Given the description of an element on the screen output the (x, y) to click on. 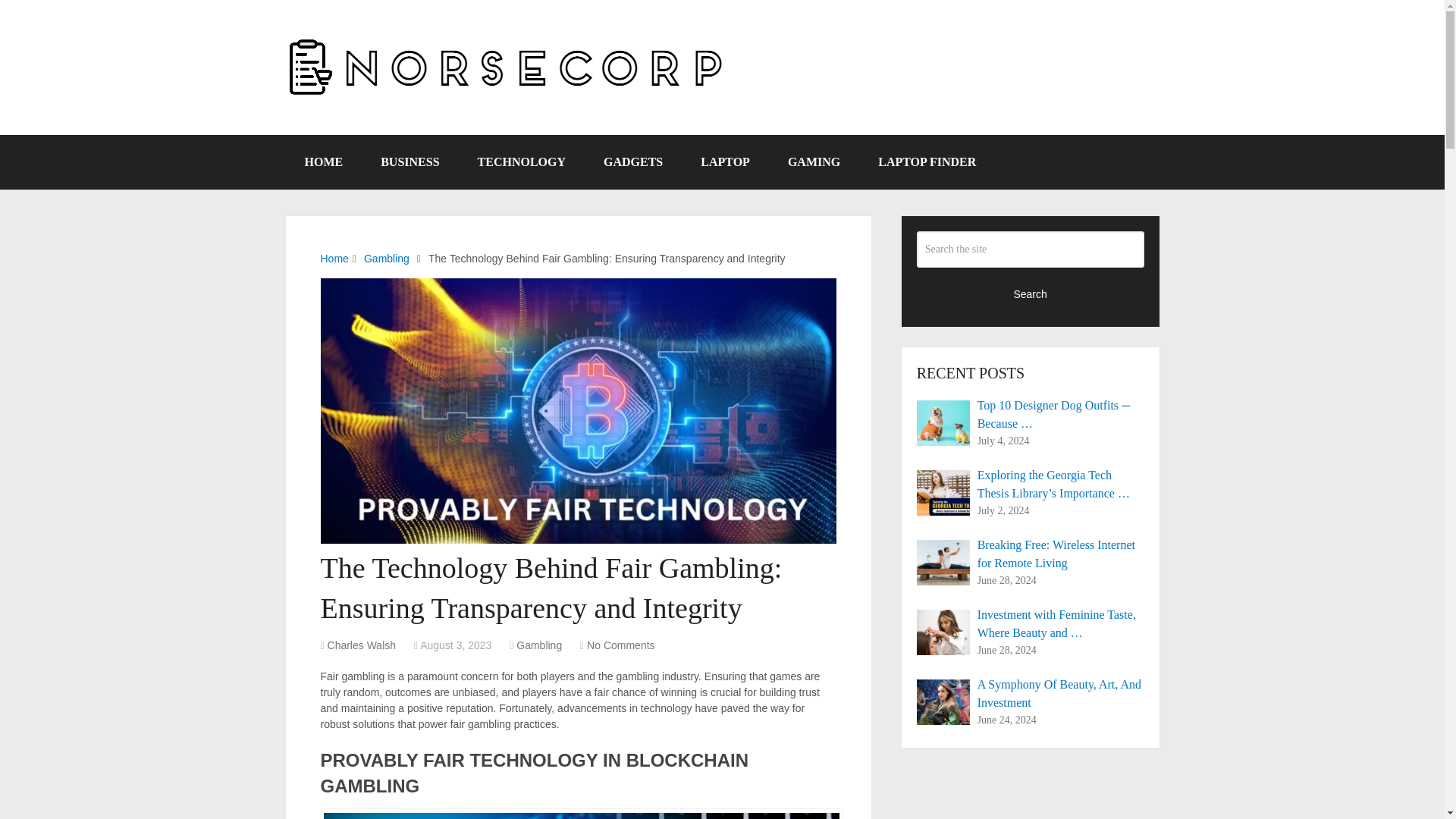
Home (333, 258)
Charles Walsh (361, 645)
TECHNOLOGY (521, 162)
Search (1030, 293)
Breaking Free: Wireless Internet for Remote Living (1030, 554)
HOME (323, 162)
View all posts in Gambling (539, 645)
LAPTOP (724, 162)
No Comments (619, 645)
LAPTOP FINDER (926, 162)
Gambling (386, 258)
BUSINESS (409, 162)
Gambling (539, 645)
GADGETS (633, 162)
Posts by Charles Walsh (361, 645)
